Given the description of an element on the screen output the (x, y) to click on. 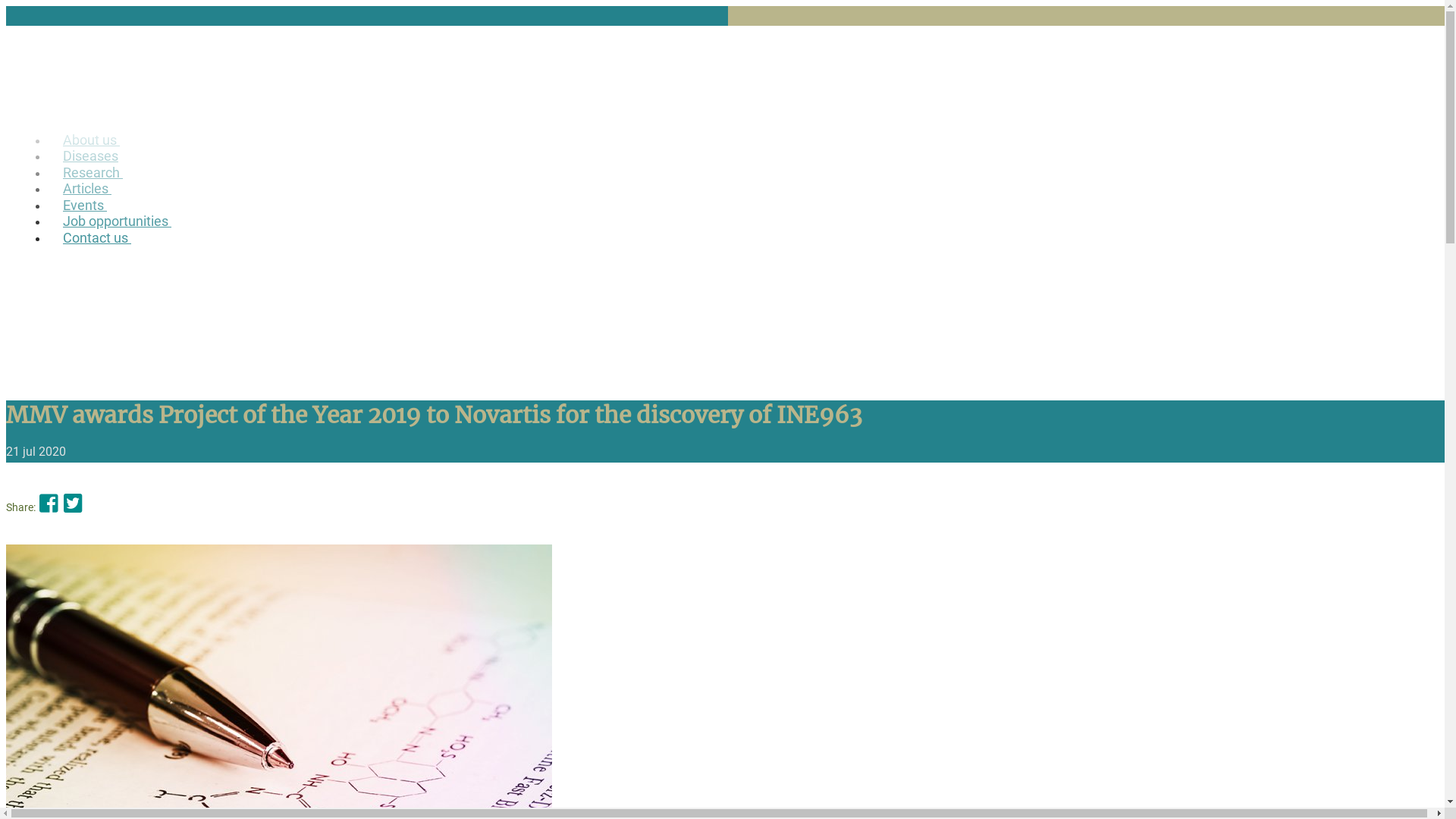
Job opportunities  Element type: text (743, 221)
Diseases Element type: text (743, 155)
Research  Element type: text (743, 172)
Events  Element type: text (743, 205)
Contact us  Element type: text (743, 237)
Articles  Element type: text (743, 188)
About us  Element type: text (743, 139)
